Given the description of an element on the screen output the (x, y) to click on. 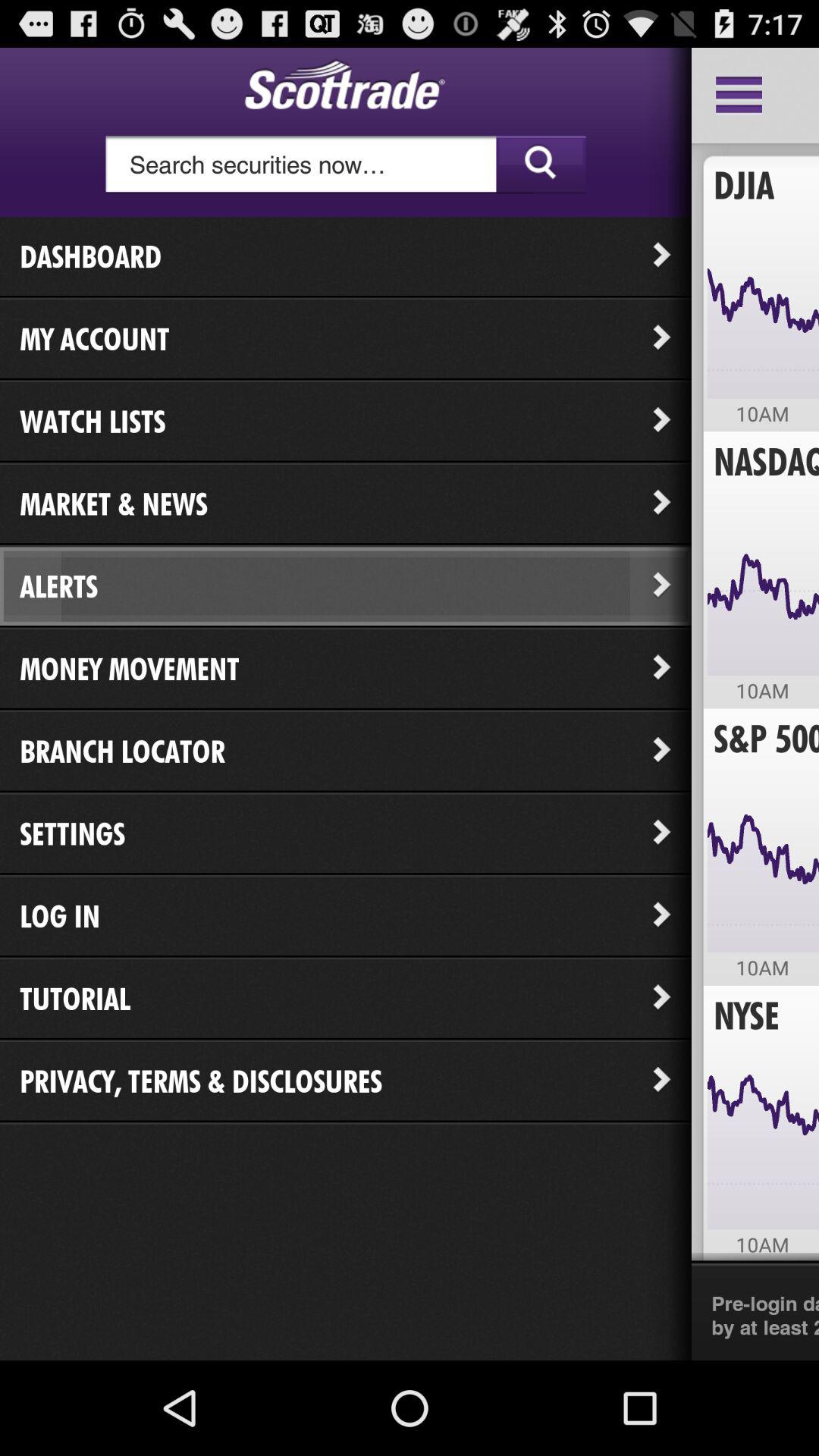
tap to search (345, 164)
